Given the description of an element on the screen output the (x, y) to click on. 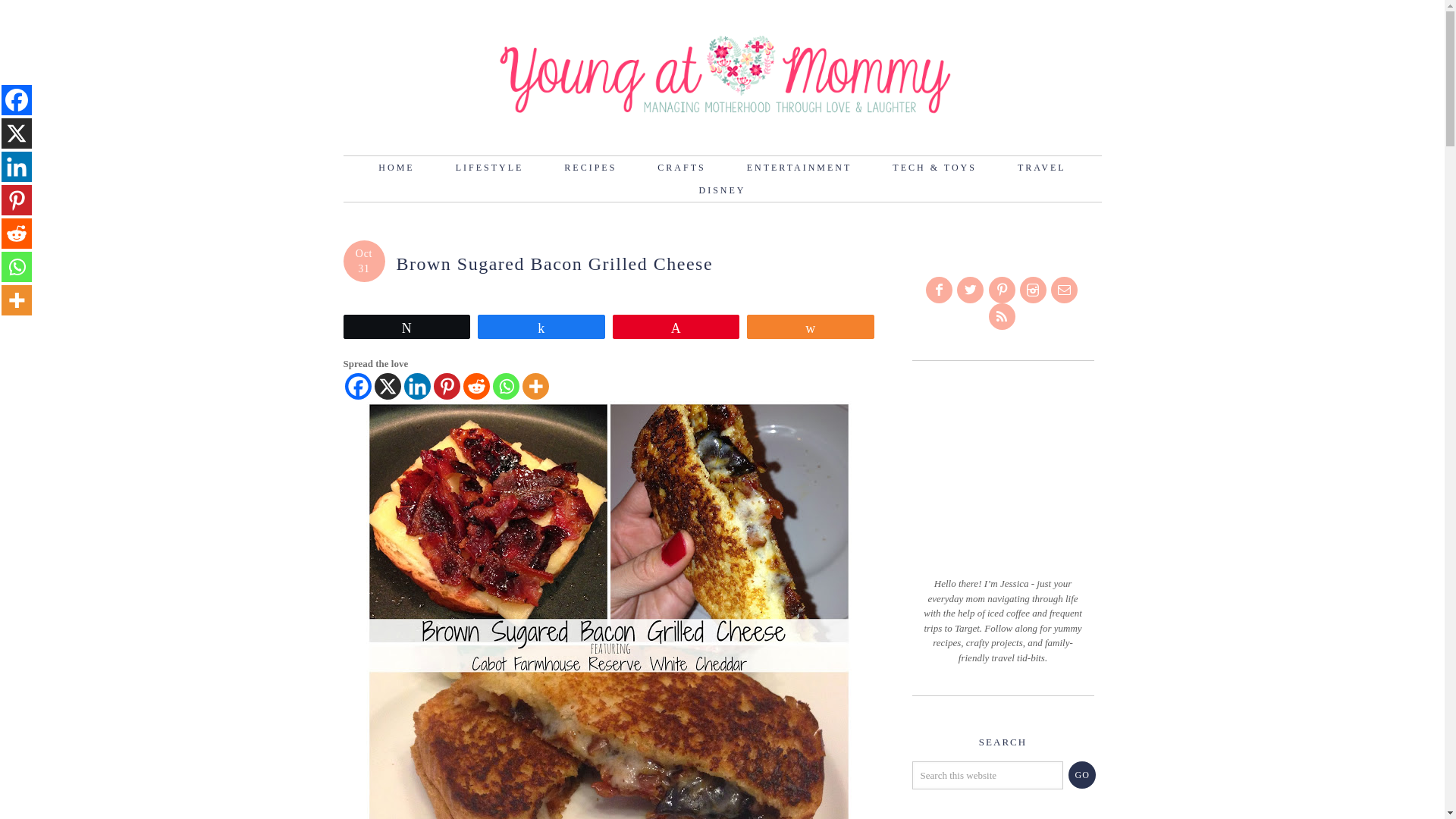
Linkedin (416, 386)
LIFESTYLE (489, 167)
More (534, 386)
X (16, 132)
RECIPES (590, 167)
Pinterest (446, 386)
GO (1082, 774)
Reddit (476, 386)
Pinterest (16, 200)
Whatsapp (16, 266)
YOUNG AT HEART MOMMY (721, 72)
X (387, 386)
Reddit (16, 233)
More (16, 300)
TRAVEL (1041, 167)
